Given the description of an element on the screen output the (x, y) to click on. 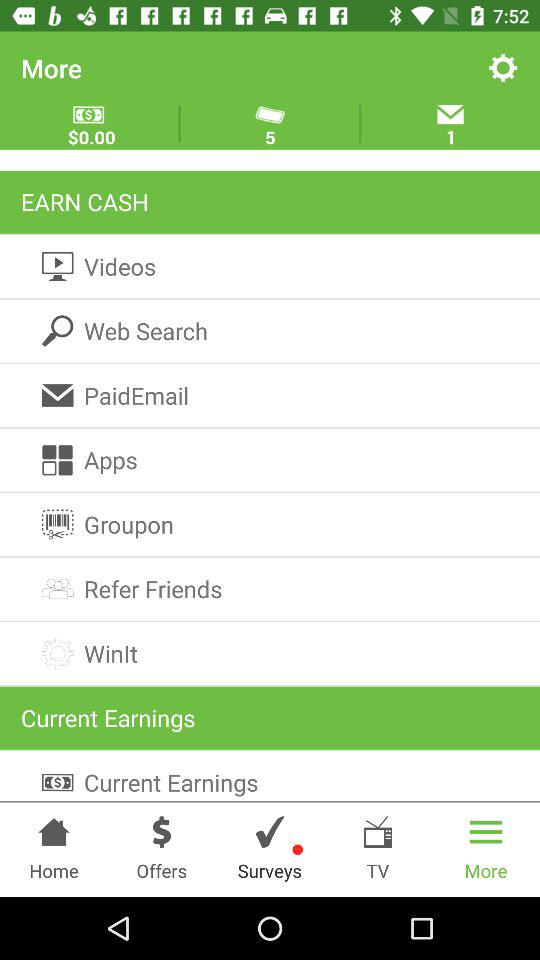
open item above winit icon (270, 588)
